Given the description of an element on the screen output the (x, y) to click on. 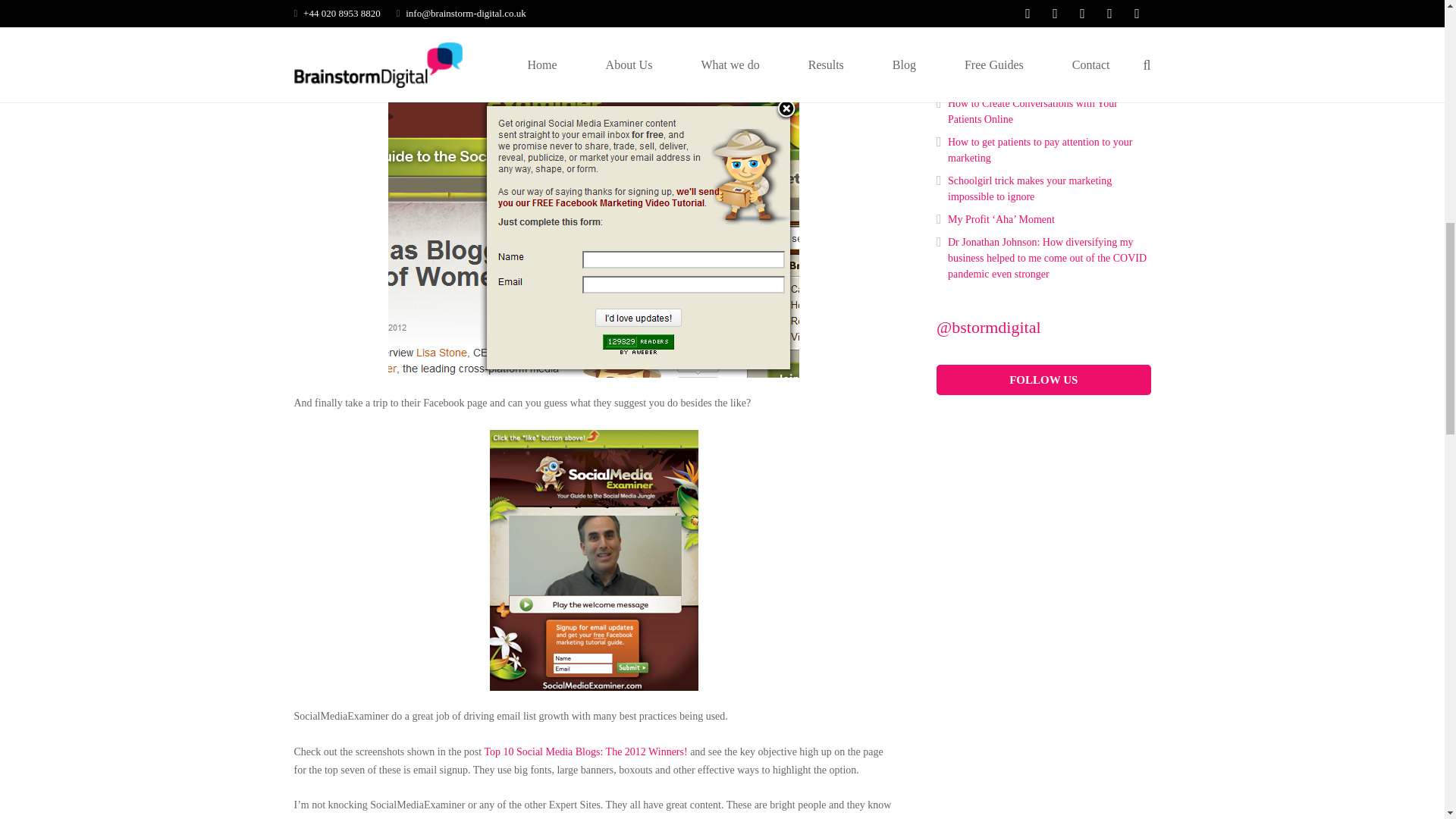
Social Media Examiner Facebook email signup (593, 560)
Social Media Examiner (593, 2)
Social Media Examiner email signup popup (593, 217)
The top seven use email (585, 751)
